Given the description of an element on the screen output the (x, y) to click on. 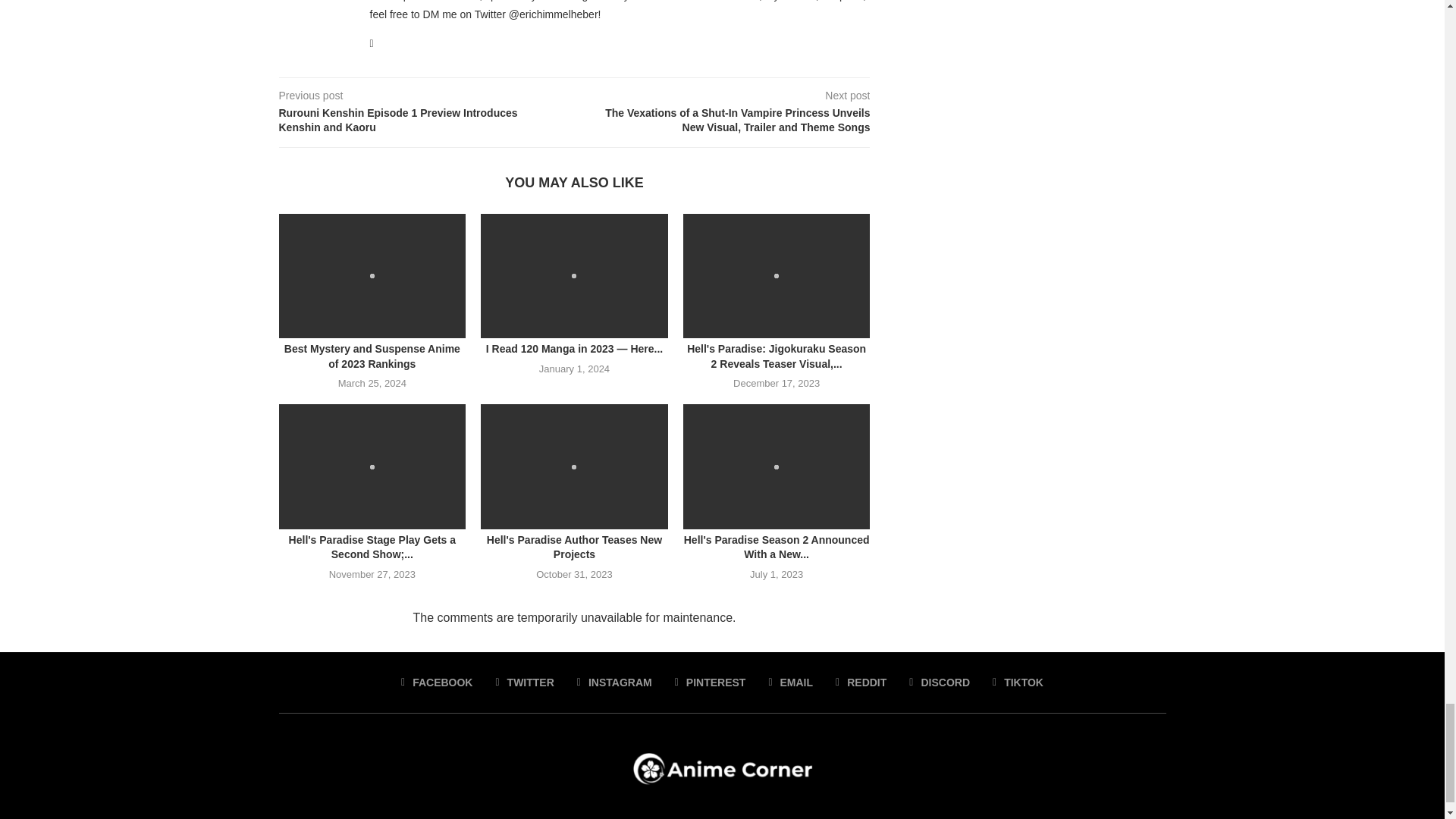
Hell's Paradise Season 2 Announced With a New Trailer (776, 466)
Best Mystery and Suspense Anime of 2023 Rankings (372, 275)
Hell's Paradise Author Teases New Projects (574, 466)
